Given the description of an element on the screen output the (x, y) to click on. 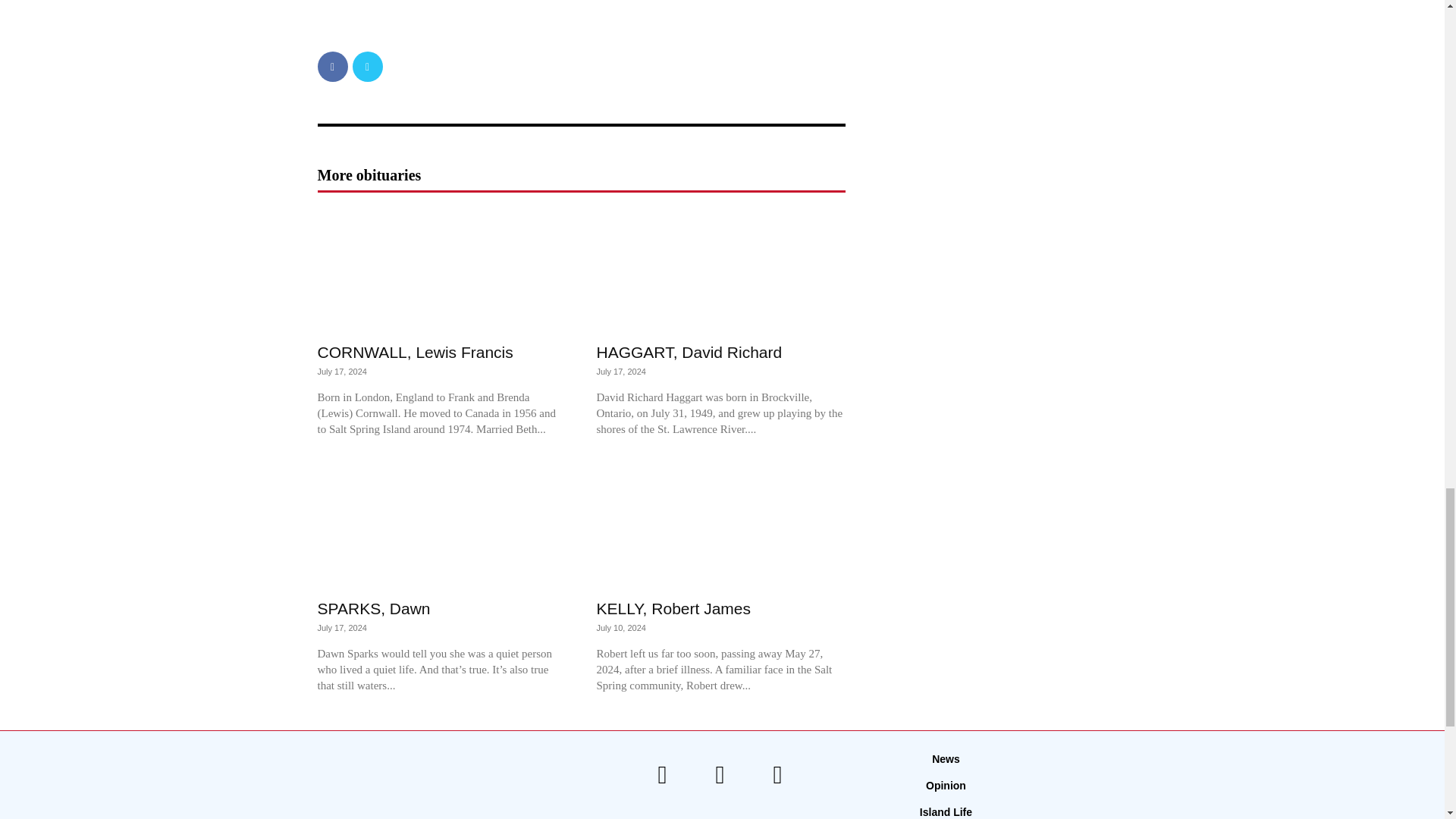
CORNWALL, Lewis Francis (441, 270)
HAGGART, David Richard (719, 270)
Facebook (332, 66)
CORNWALL, Lewis Francis (414, 352)
HAGGART, David Richard (688, 352)
Twitter (366, 66)
SPARKS, Dawn (441, 526)
